Given the description of an element on the screen output the (x, y) to click on. 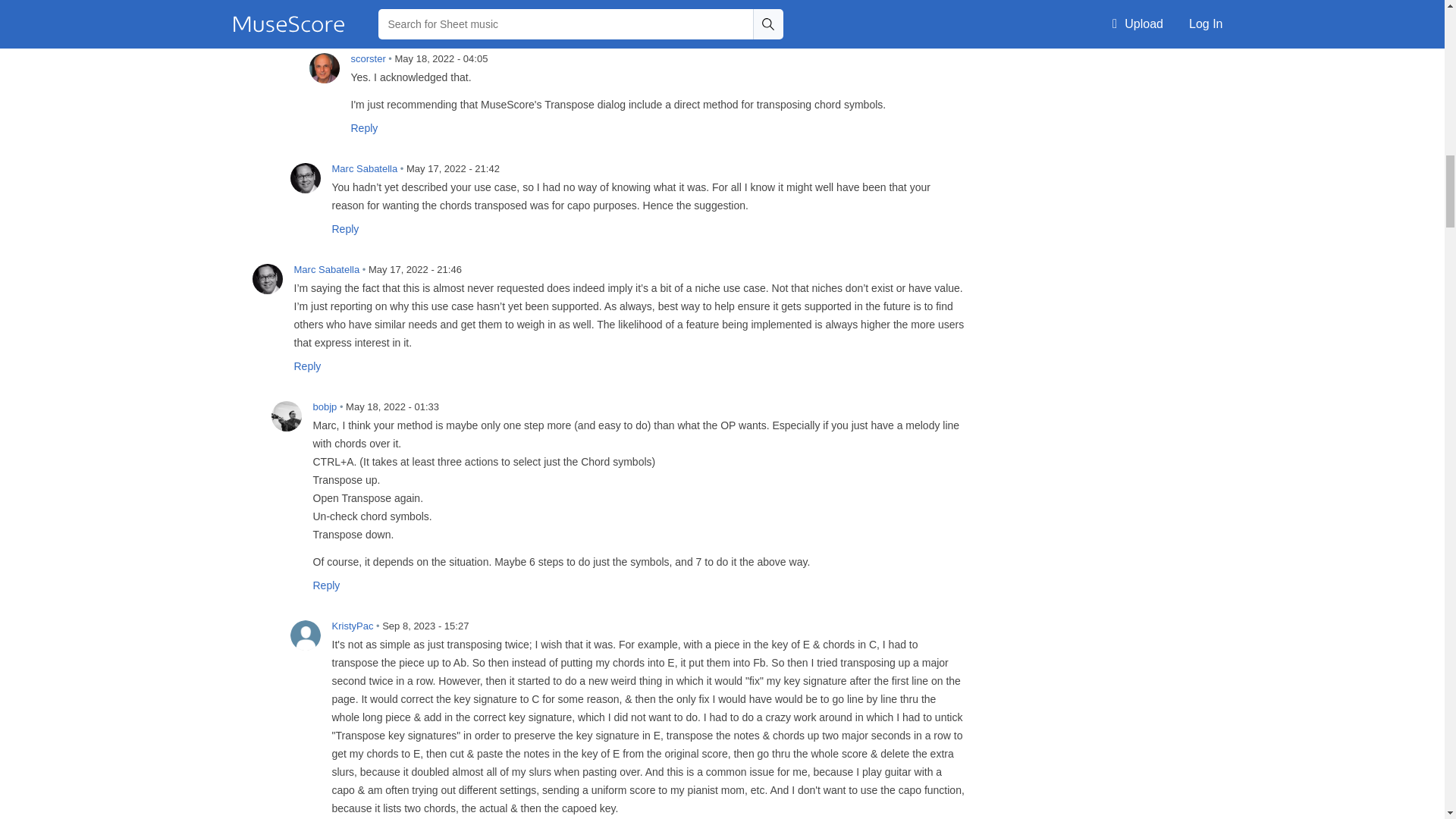
Marc Sabatella (304, 177)
Marc Sabatella (266, 278)
scorster (323, 68)
